Given the description of an element on the screen output the (x, y) to click on. 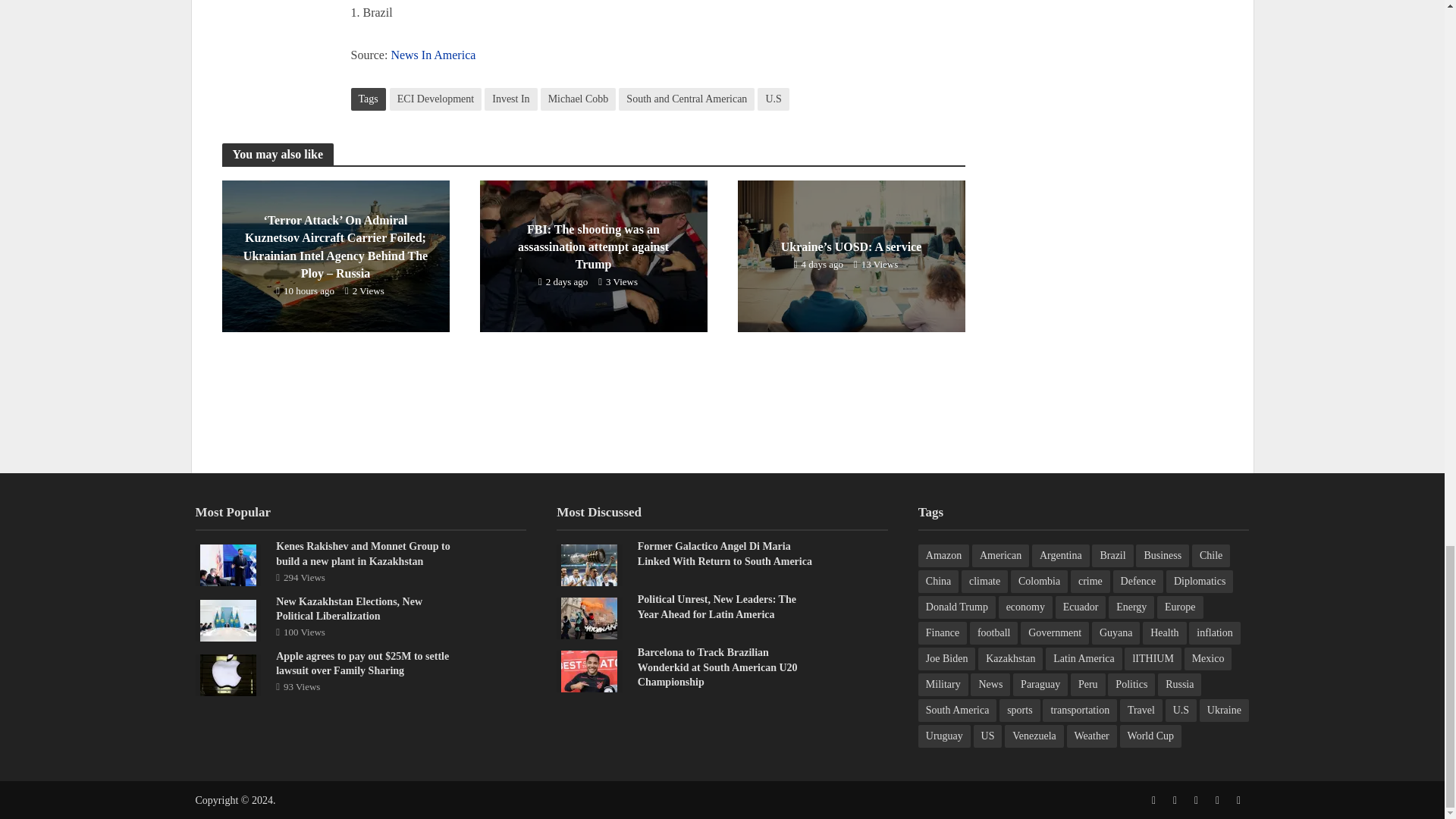
FBI: The shooting was an assassination attempt against Trump (592, 254)
